Given the description of an element on the screen output the (x, y) to click on. 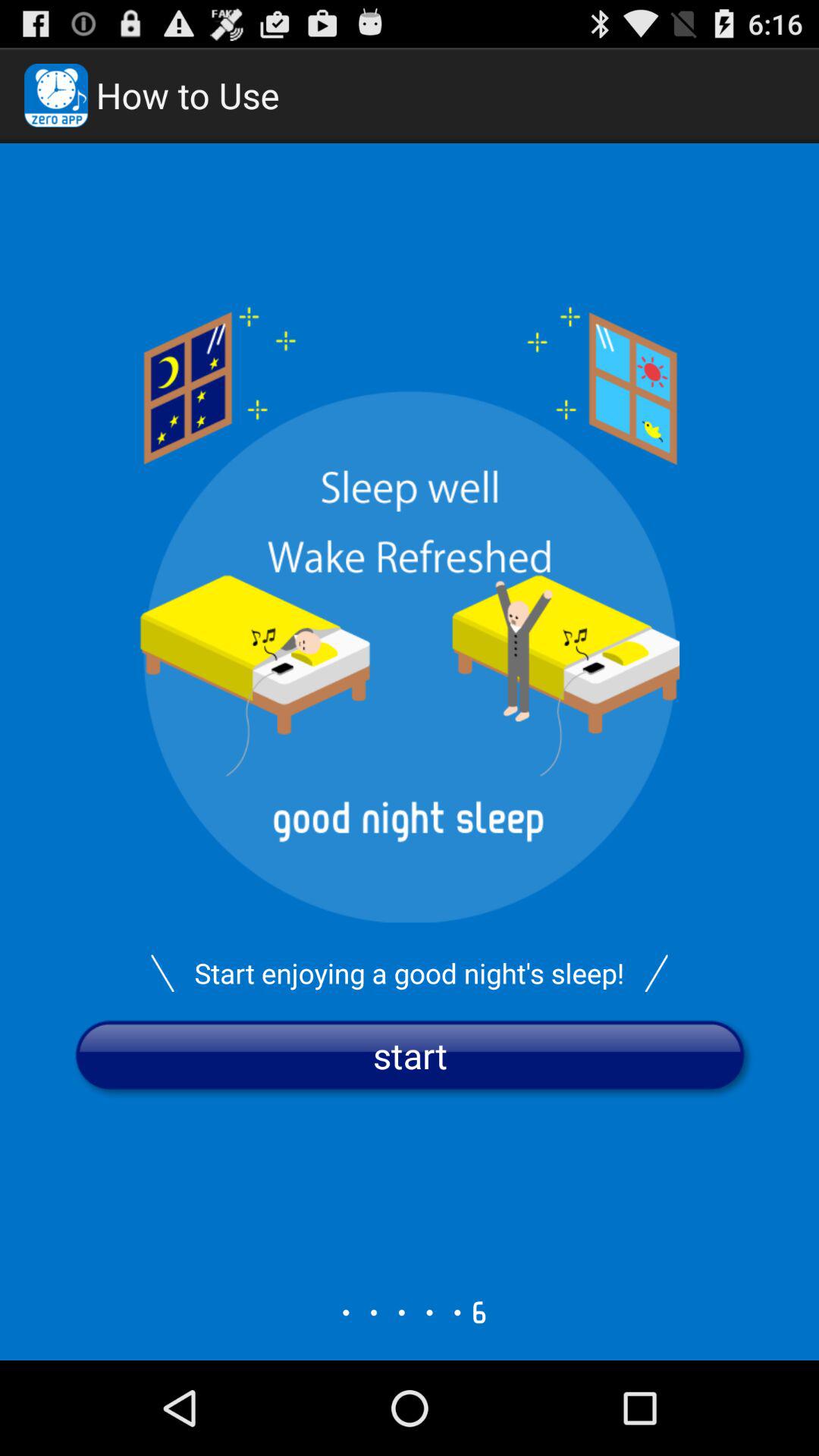
icon left to the header text of the page (56, 95)
go to symbol next to text sleep at the bottom (656, 973)
symbol to the left of the text above start button (162, 973)
